Given the description of an element on the screen output the (x, y) to click on. 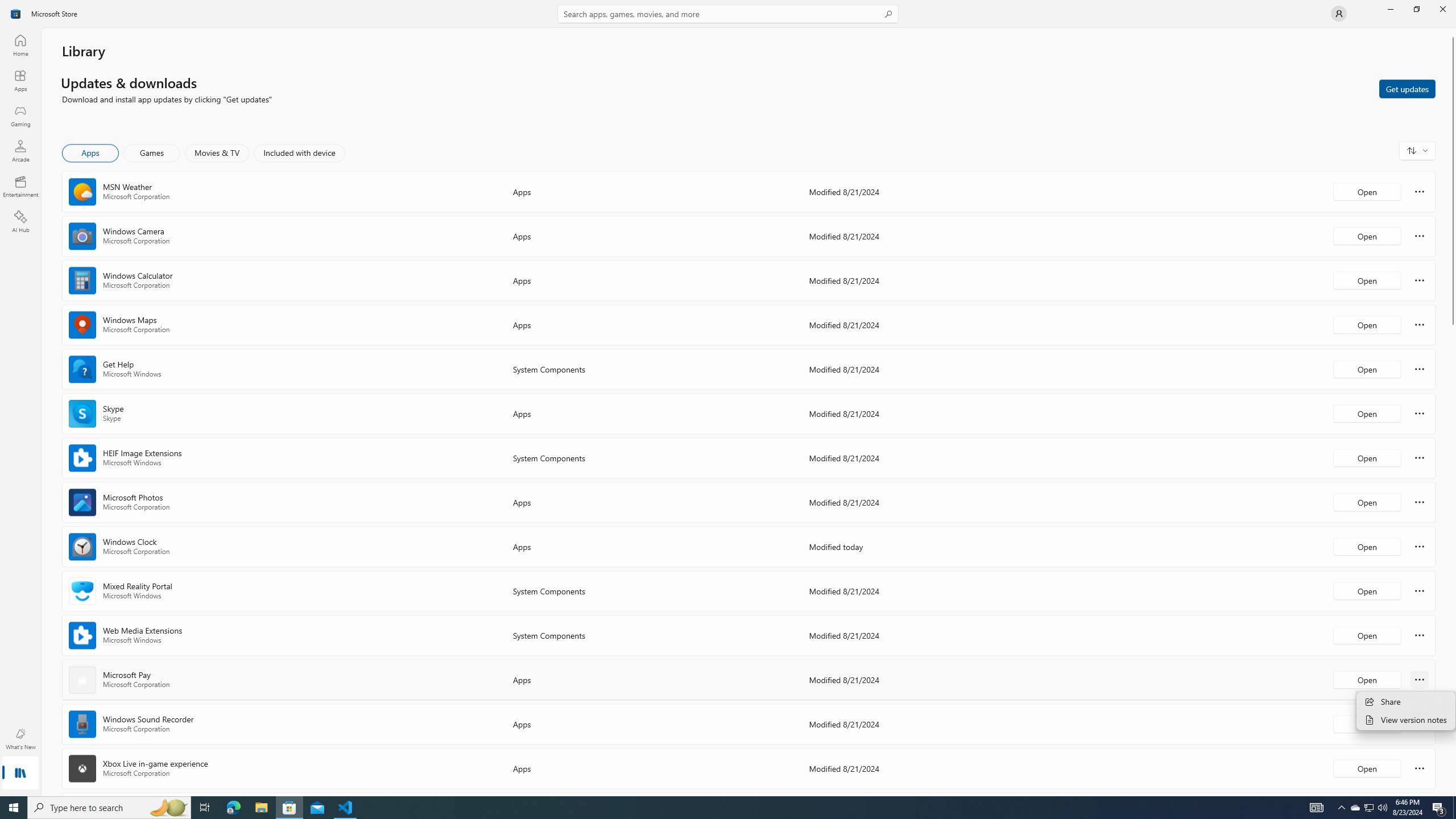
AutomationID: NavigationControl (728, 398)
Sort and filter (1417, 149)
Vertical Small Decrease (1452, 31)
Search (727, 13)
Movies & TV (216, 153)
Games (151, 153)
